Given the description of an element on the screen output the (x, y) to click on. 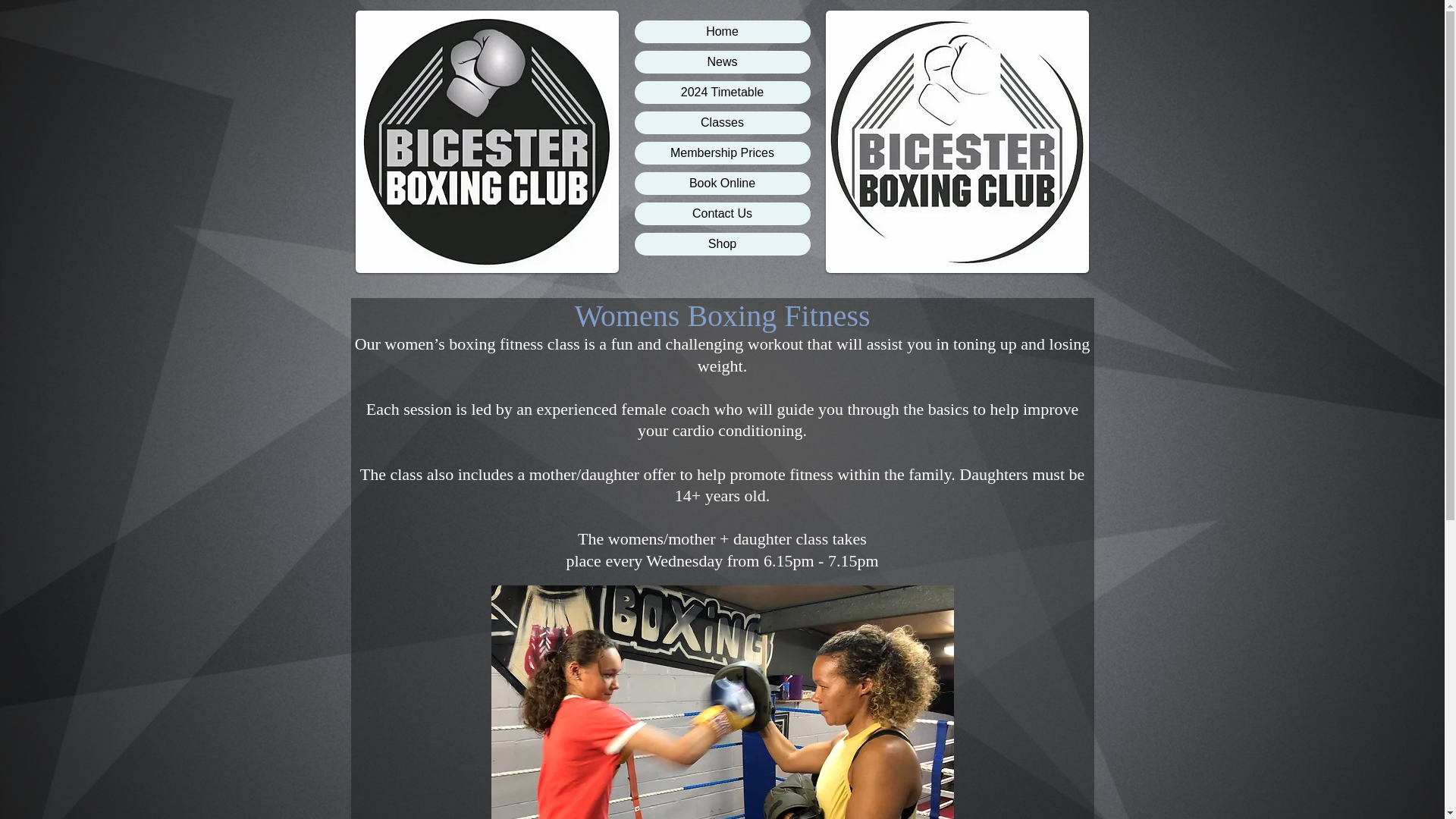
Book Online (721, 182)
Membership Prices (721, 152)
Shop (721, 243)
Classes (721, 122)
News (721, 61)
Contact Us (721, 213)
2024 Timetable (721, 92)
Home (721, 31)
